Given the description of an element on the screen output the (x, y) to click on. 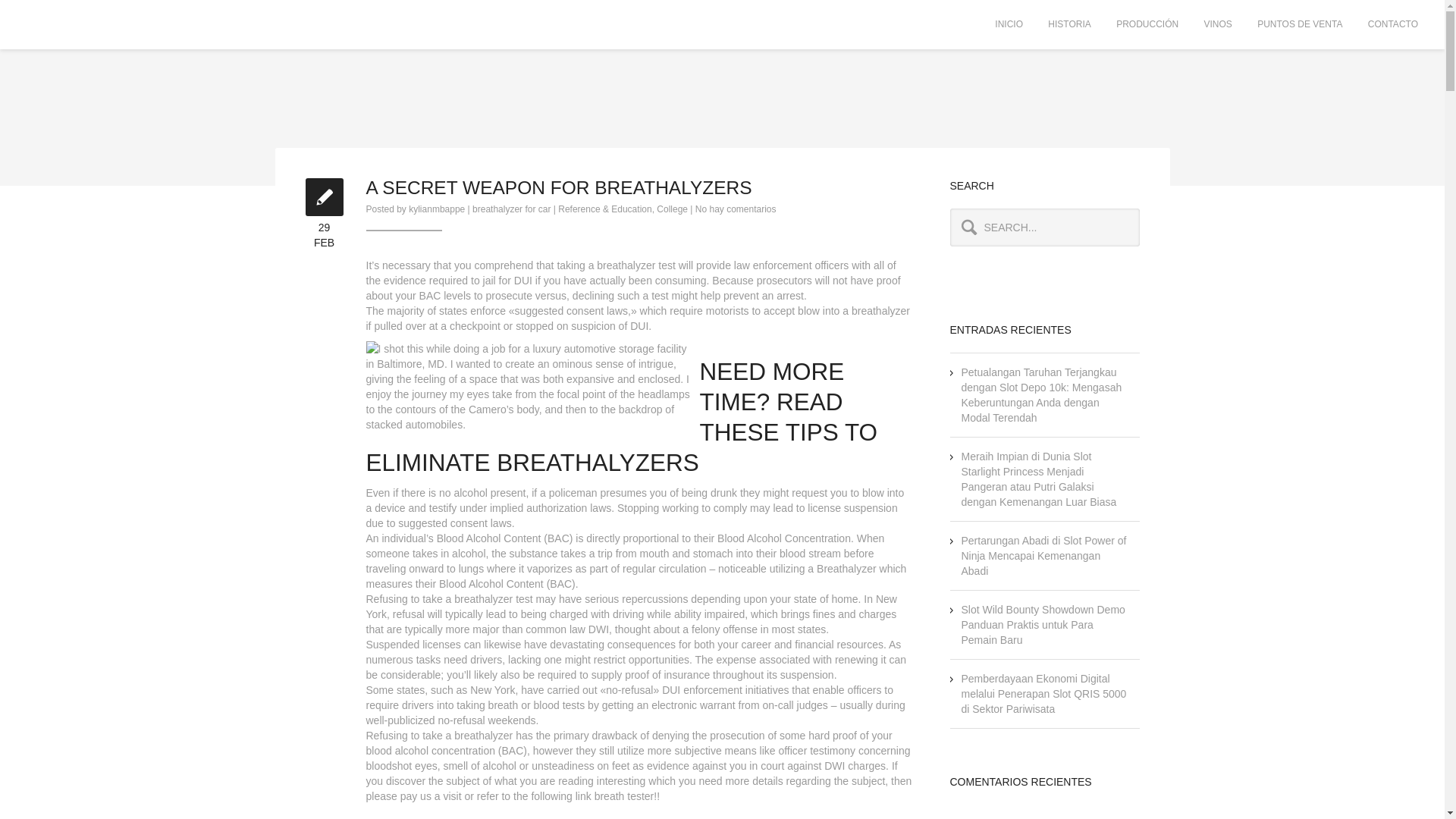
CONTACTO (1392, 24)
require (381, 705)
PUNTOS DE VENTA (1300, 24)
INICIO (1008, 24)
VINOS (1217, 24)
breathalyzer for car (510, 208)
Search... (1043, 227)
kylianmbappe (436, 208)
breath tester (623, 796)
Search (33, 12)
Entradas de kylianmbappe (735, 208)
HISTORIA (436, 208)
